Given the description of an element on the screen output the (x, y) to click on. 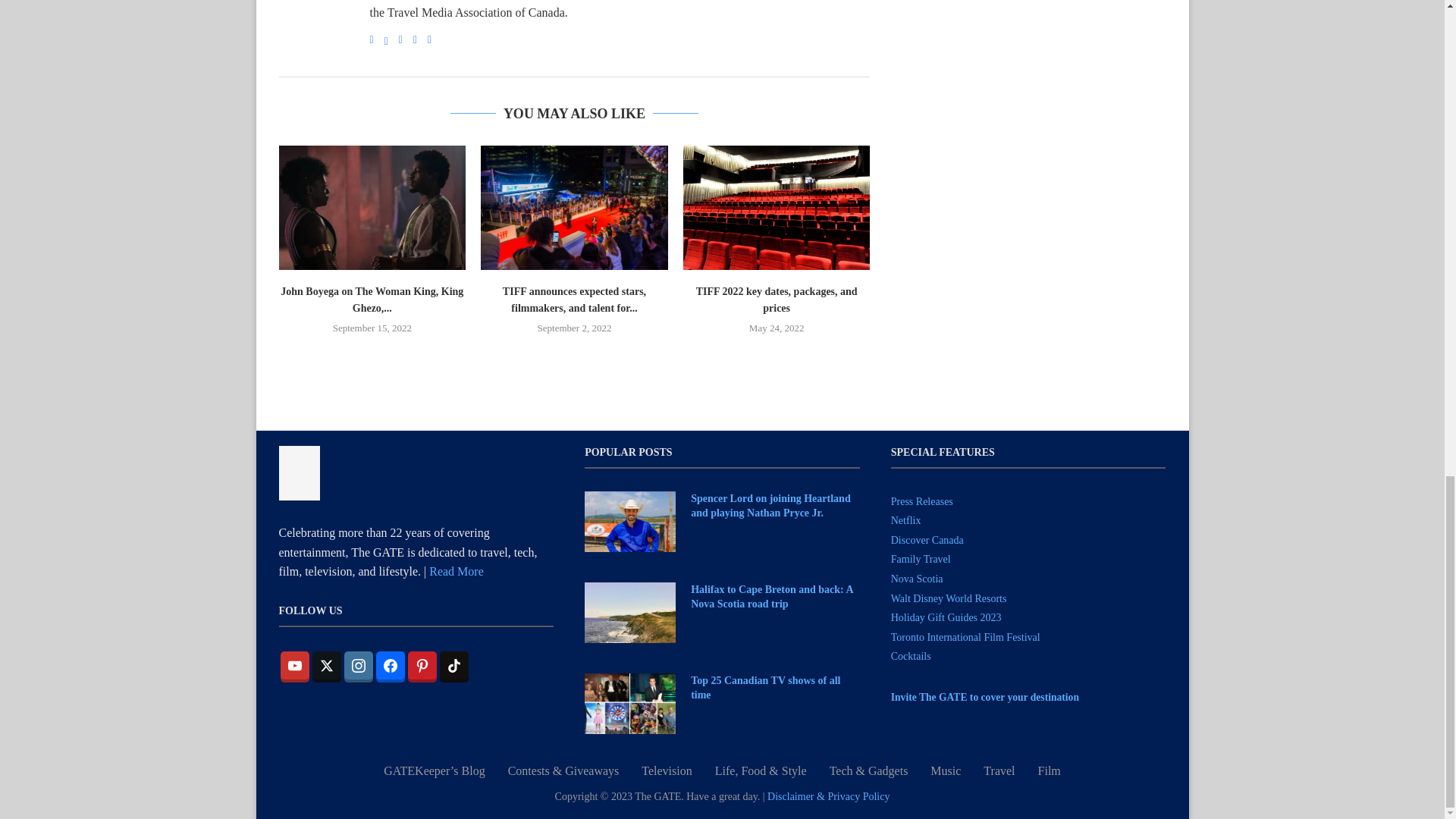
Halifax to Cape Breton and back: A Nova Scotia road trip (630, 612)
TIFF 2022 key dates, packages, and prices (776, 207)
